Given the description of an element on the screen output the (x, y) to click on. 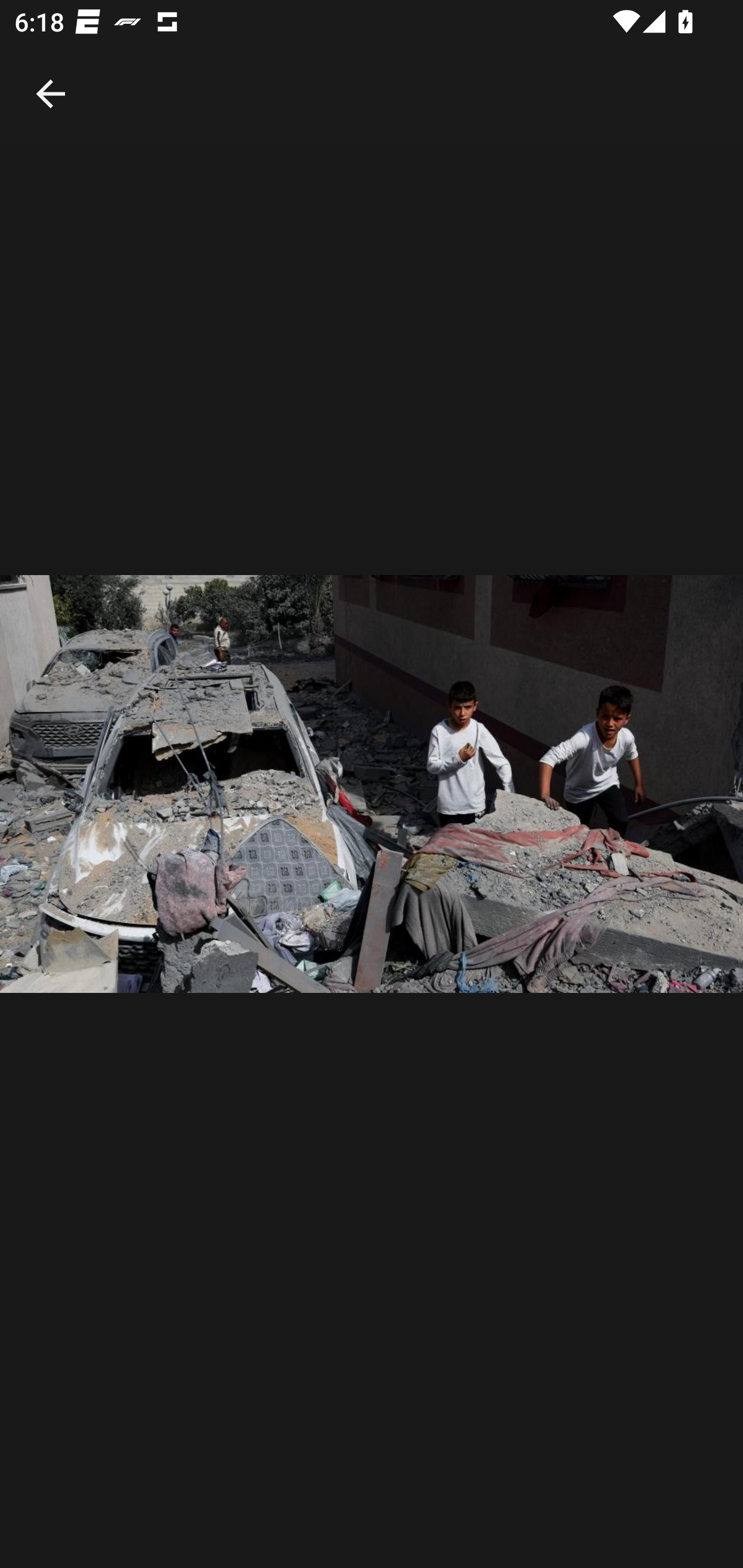
Back (50, 72)
